Given the description of an element on the screen output the (x, y) to click on. 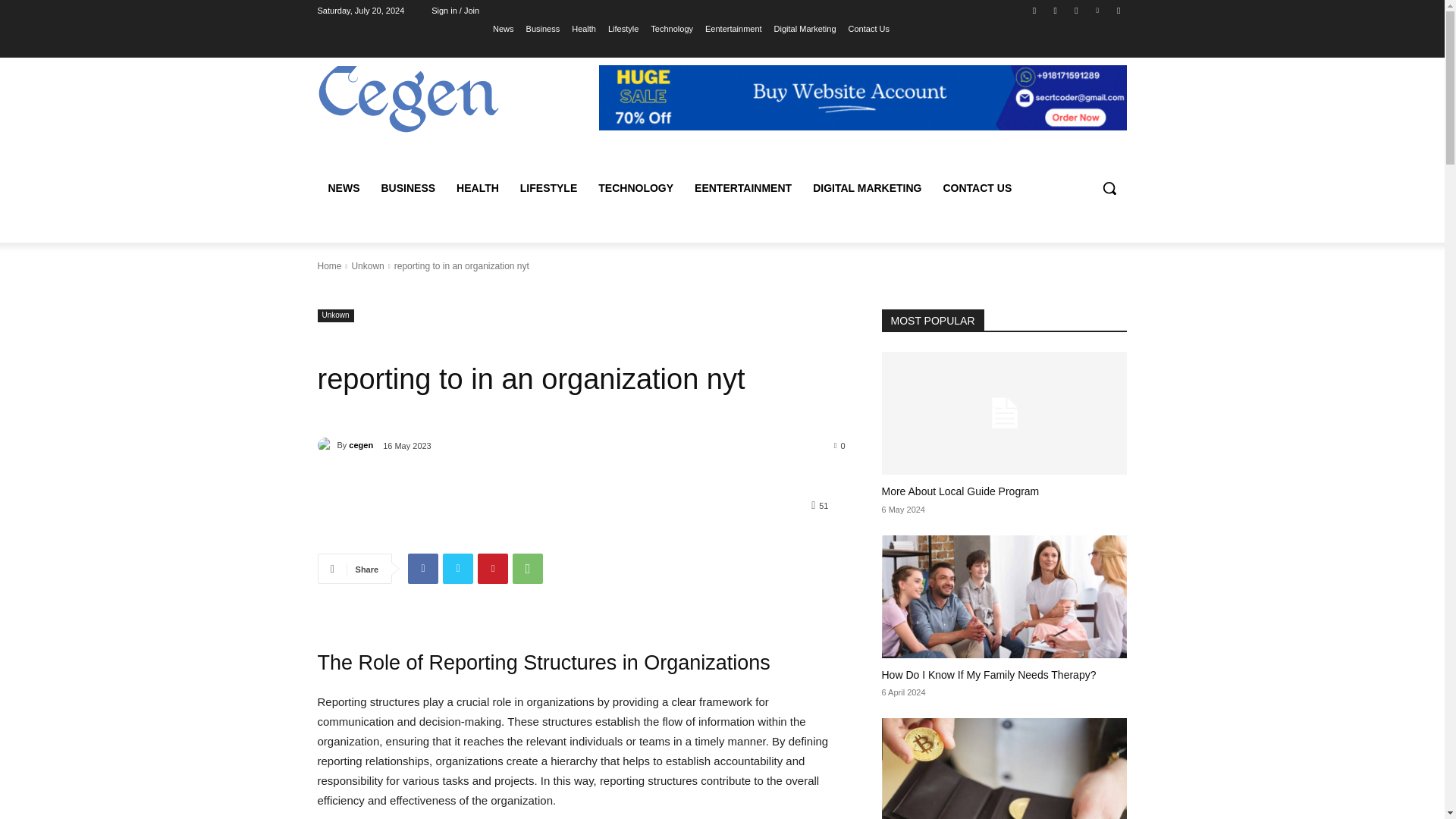
DIGITAL MARKETING (866, 187)
Eentertainment (732, 28)
WhatsApp (527, 568)
cegen (326, 444)
Vimeo (1097, 9)
EENTERTAINMENT (743, 187)
Pinterest (492, 568)
TECHNOLOGY (636, 187)
View all posts in Unkown (367, 266)
Facebook (1034, 9)
Youtube (1117, 9)
Facebook (422, 568)
CONTACT US (978, 187)
Twitter (1075, 9)
Instagram (1055, 9)
